Given the description of an element on the screen output the (x, y) to click on. 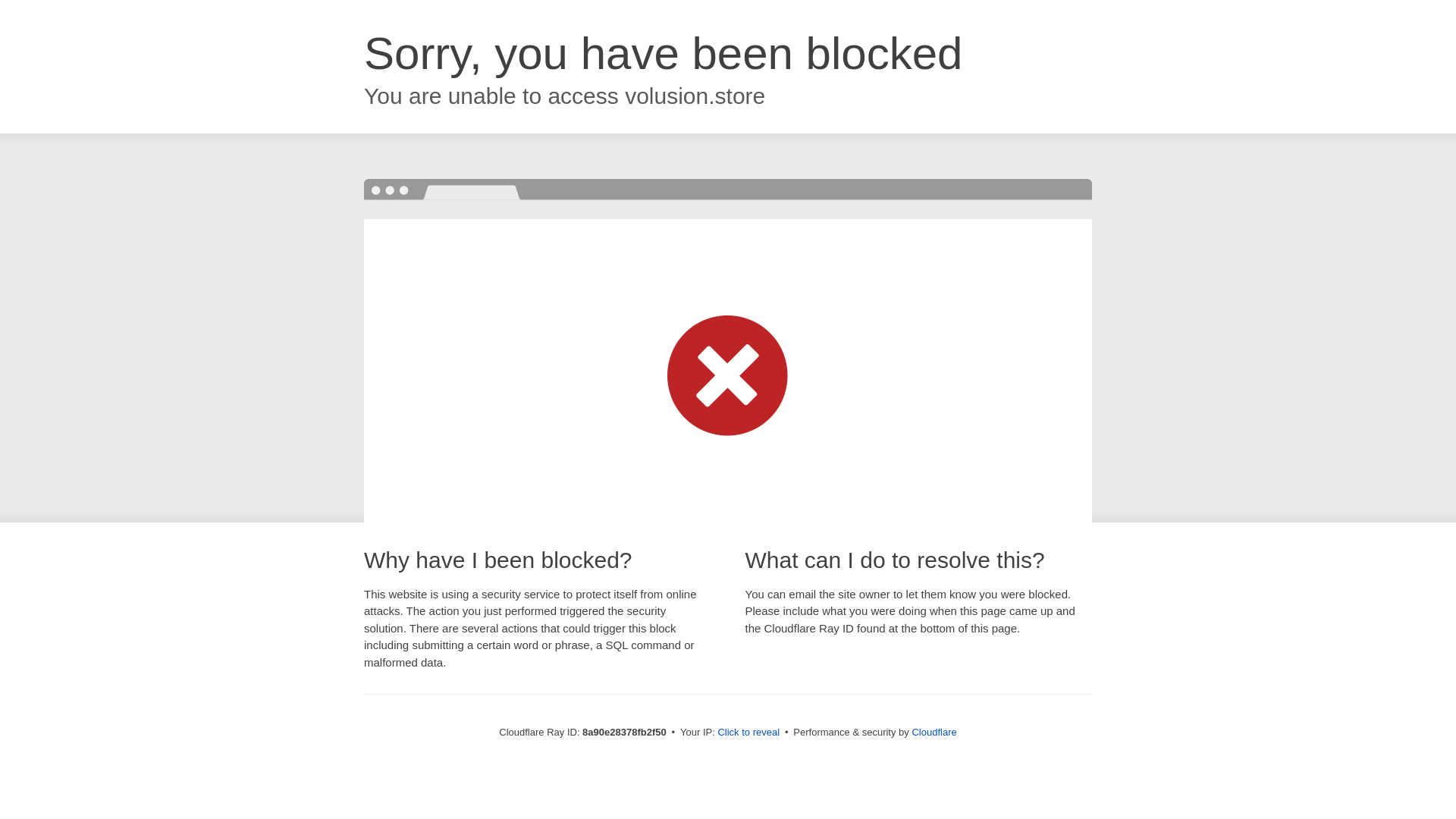
Cloudflare (933, 731)
Click to reveal (747, 732)
